Given the description of an element on the screen output the (x, y) to click on. 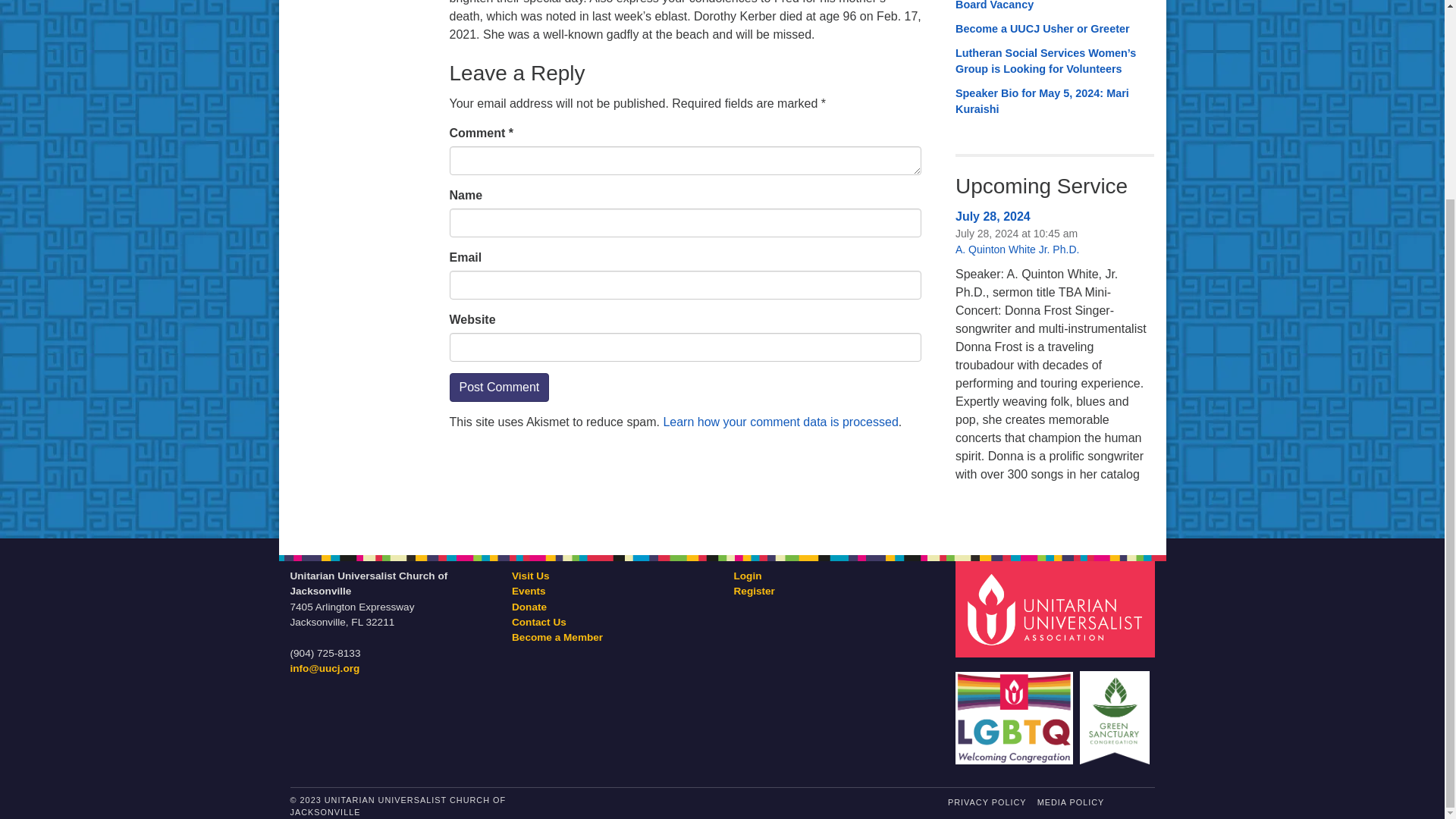
Post Comment (498, 387)
